Given the description of an element on the screen output the (x, y) to click on. 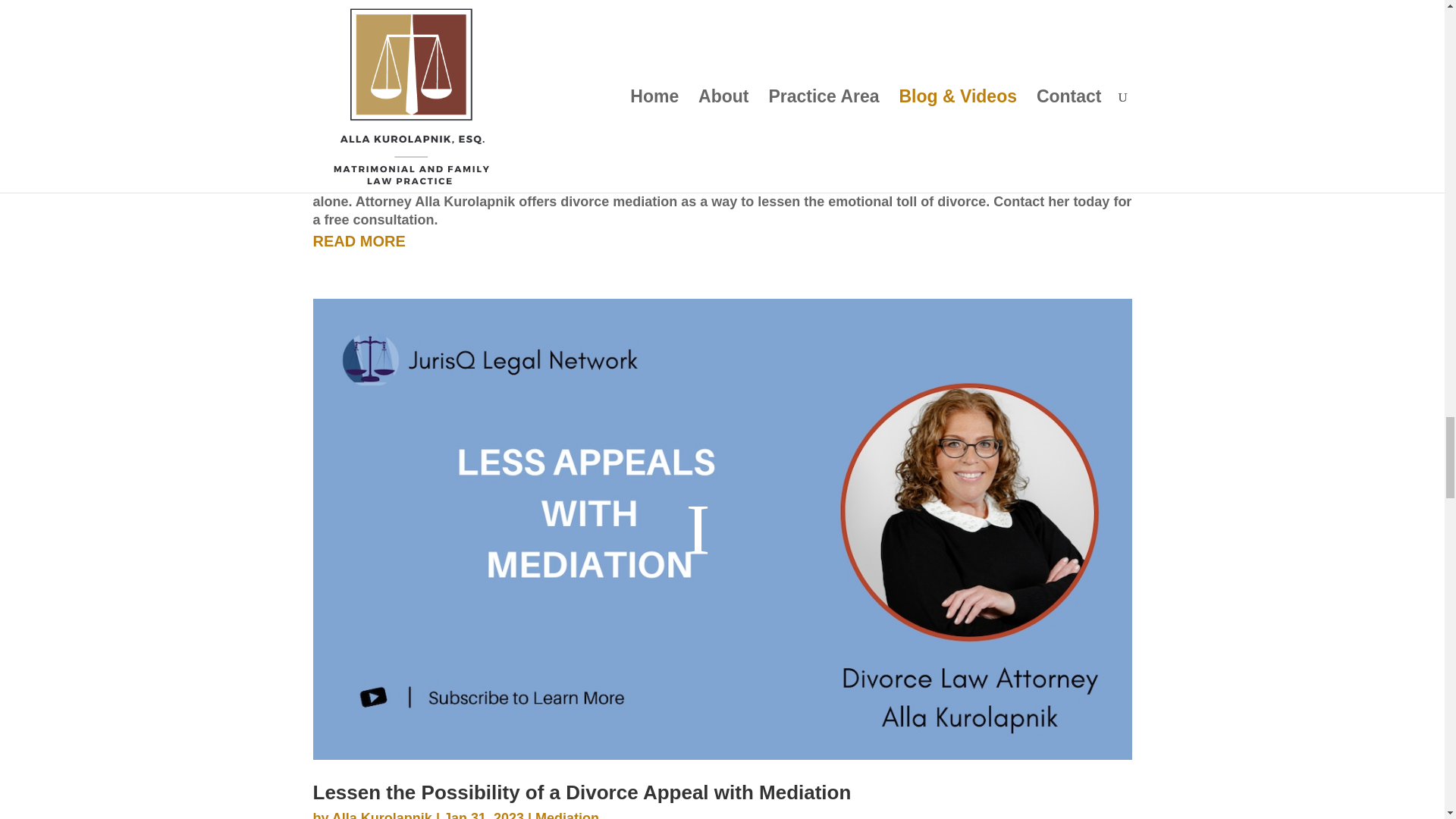
How to lessen the emotional toll through divorce mediation (722, 51)
Posts by Alla Kurolapnik (381, 814)
Posts by Alla Kurolapnik (381, 160)
Alla Kurolapnik (381, 160)
Mediation (560, 160)
How to lessen the emotional toll through divorce mediation (590, 134)
